Given the description of an element on the screen output the (x, y) to click on. 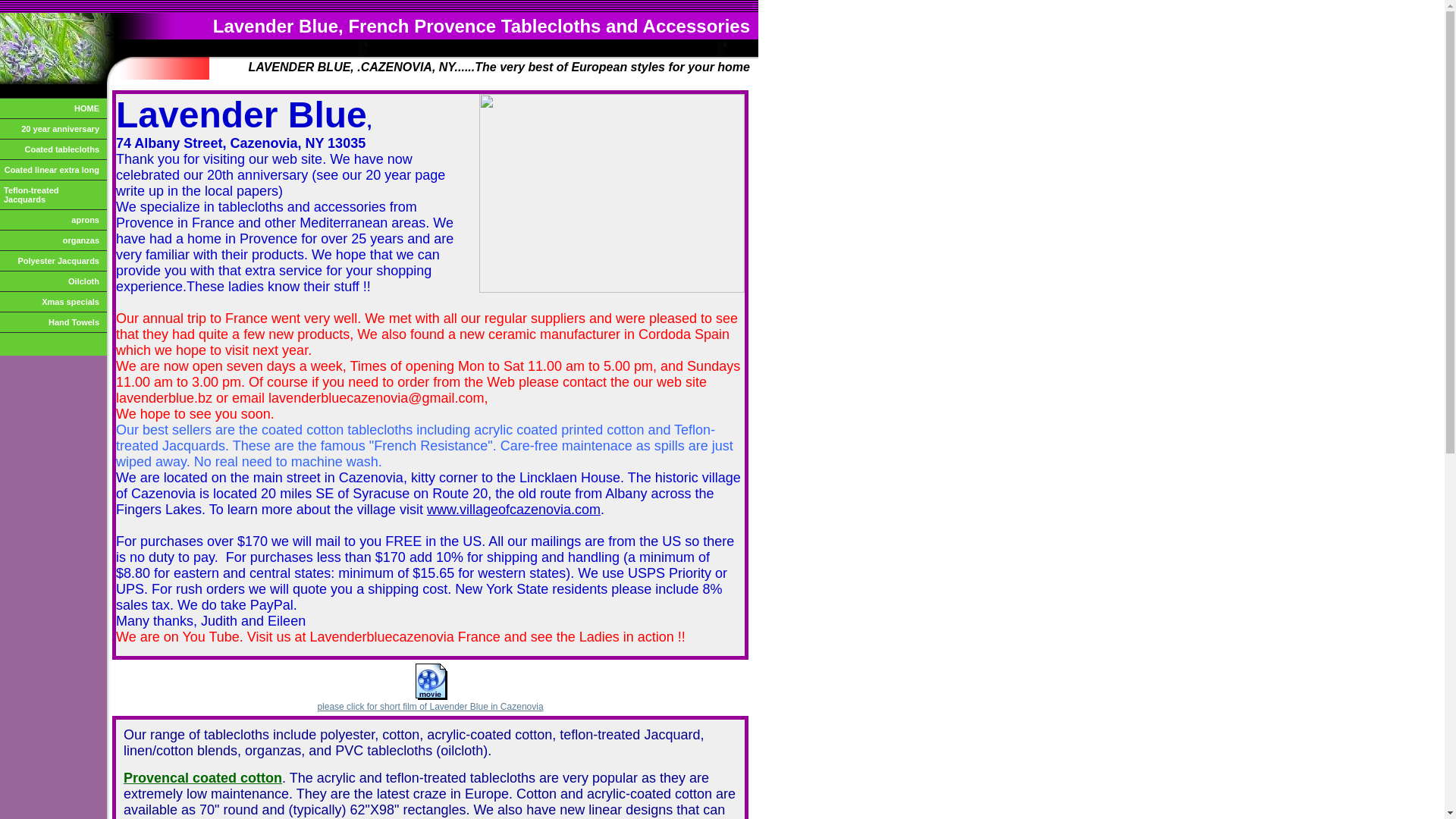
Teflon-treated Jacquards Element type: text (53, 195)
Coated tablecloths Element type: text (53, 149)
HOME Element type: text (53, 108)
Xmas specials Element type: text (53, 301)
aprons Element type: text (53, 220)
organzas Element type: text (53, 240)
Polyester Jacquards Element type: text (53, 261)
Hand Towels Element type: text (53, 322)
Oilcloth Element type: text (53, 281)
Coated linear extra long Element type: text (53, 170)
please click for short film of Lavender Blue in Cazenovia Element type: text (429, 706)
20 year anniversary Element type: text (53, 129)
